Given the description of an element on the screen output the (x, y) to click on. 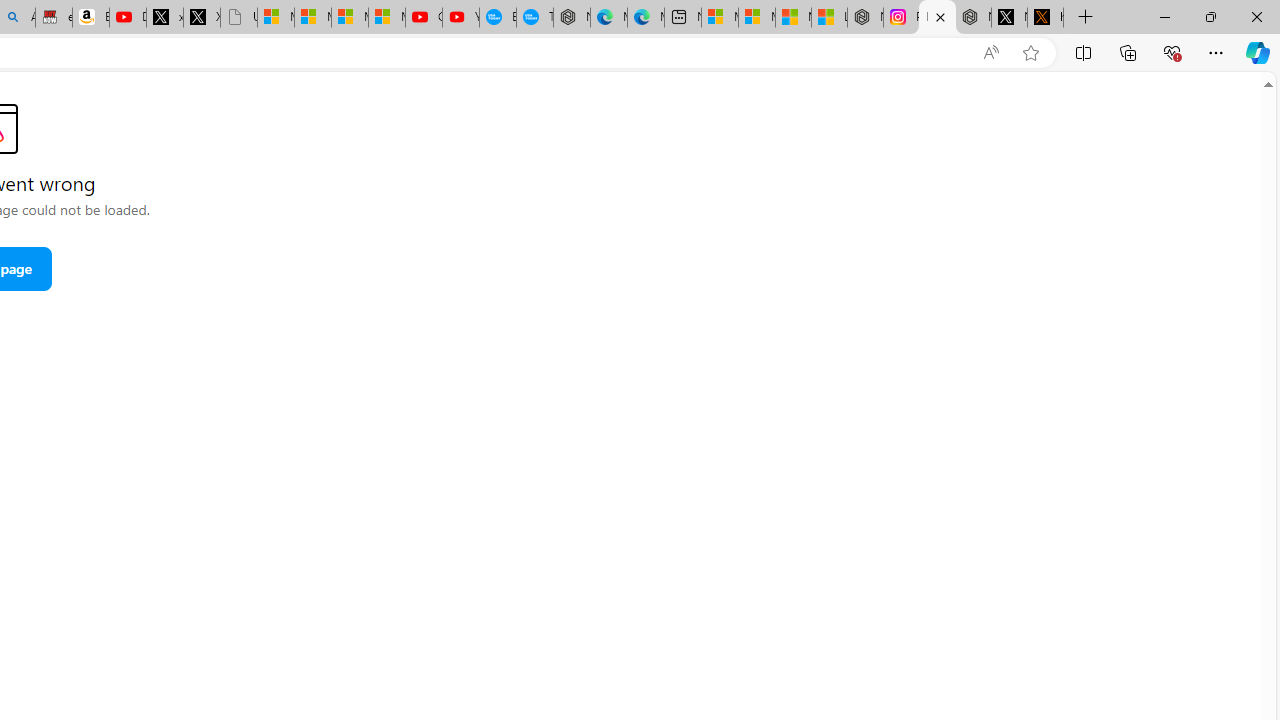
Nordace - Nordace has arrived Hong Kong (572, 17)
YouTube Kids - An App Created for Kids to Explore Content (460, 17)
help.x.com | 524: A timeout occurred (1045, 17)
